Given the description of an element on the screen output the (x, y) to click on. 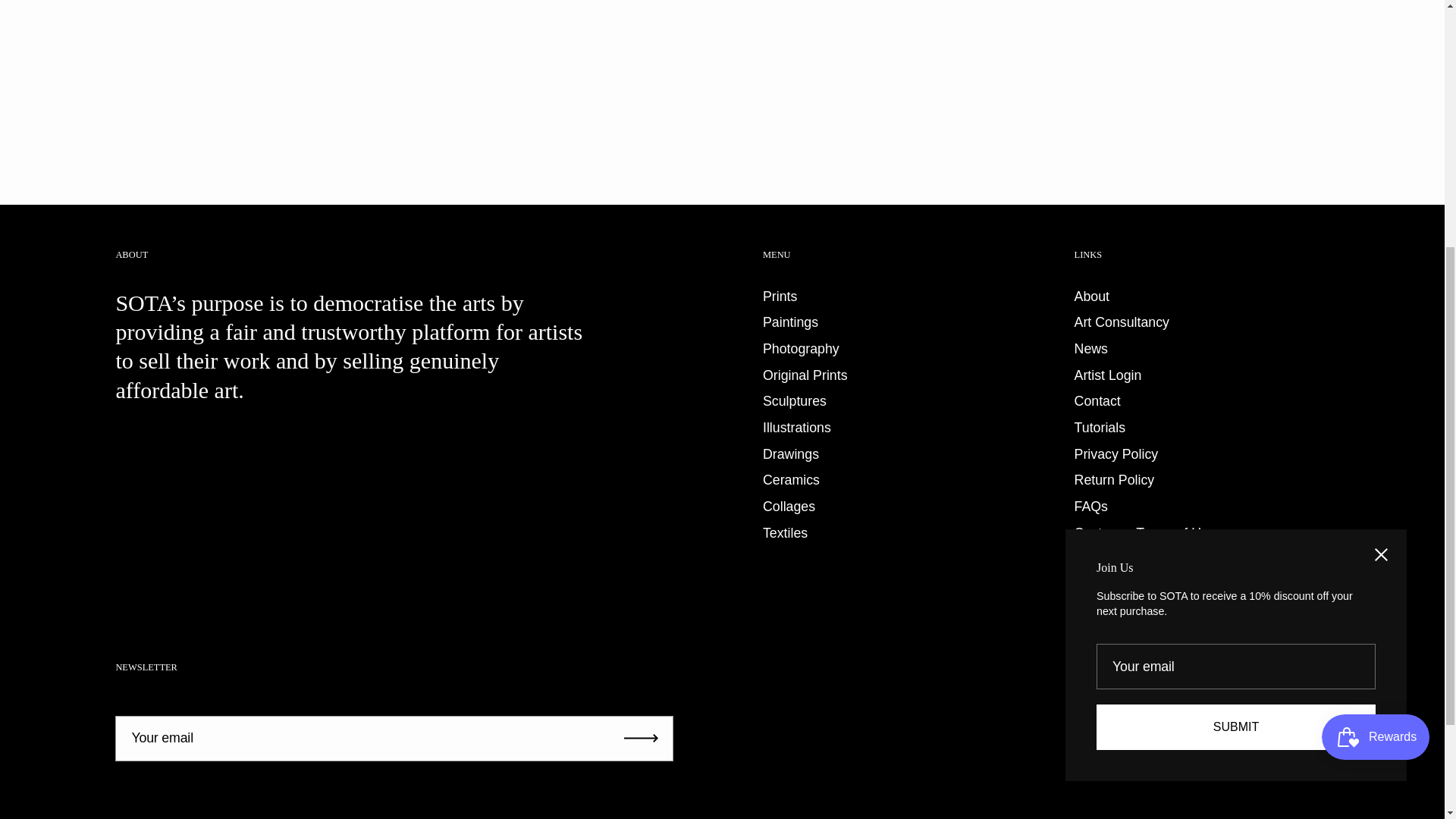
Smile.io Rewards Program Launcher (1375, 331)
